Given the description of an element on the screen output the (x, y) to click on. 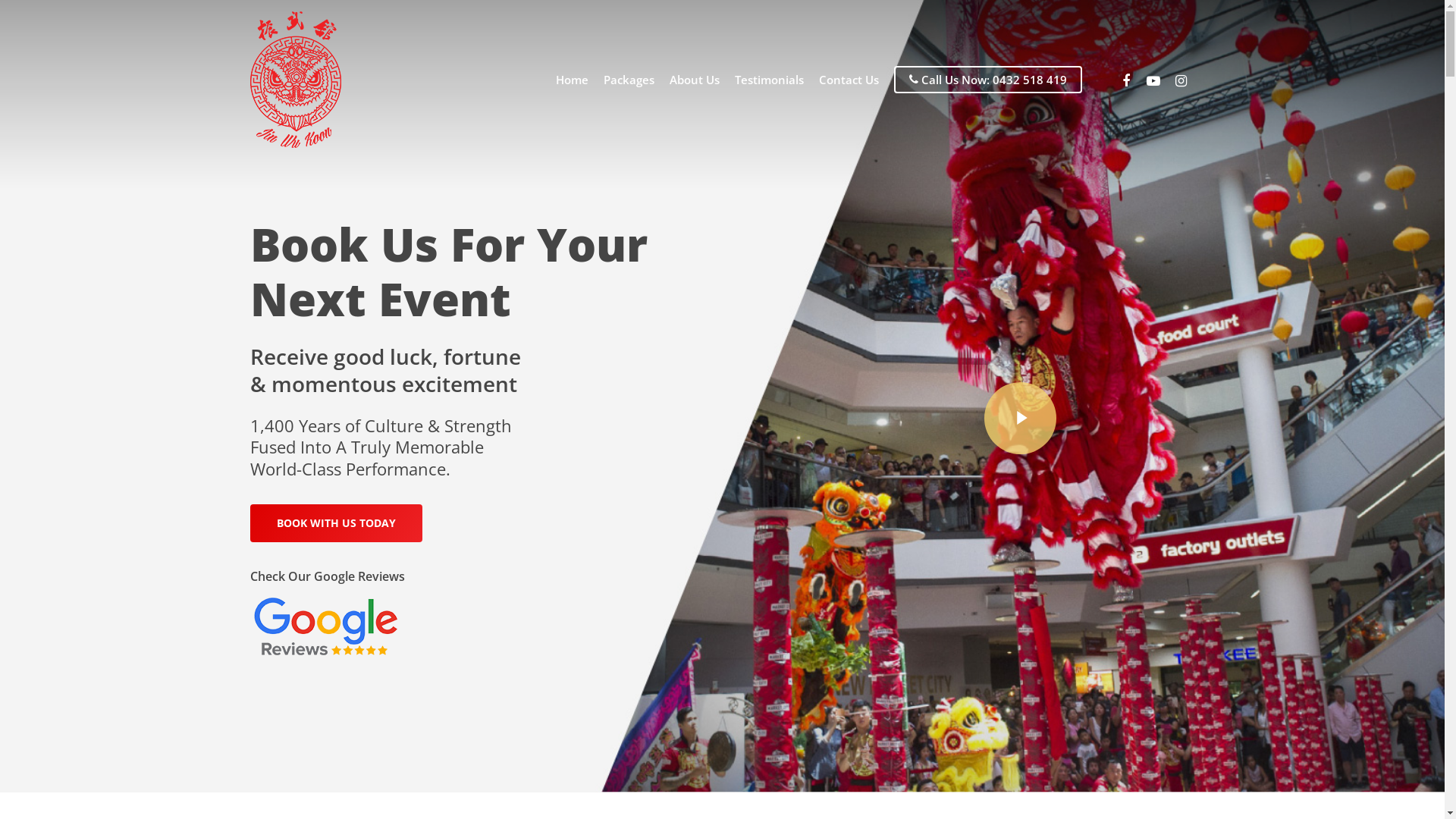
Packages Element type: text (629, 79)
BOOK WITH US TODAY Element type: text (336, 523)
Testimonials Element type: text (769, 79)
About Us Element type: text (694, 79)
Home Element type: text (572, 79)
Contact Us Element type: text (848, 79)
Call Us Now: 0432 518 419 Element type: text (988, 79)
